Given the description of an element on the screen output the (x, y) to click on. 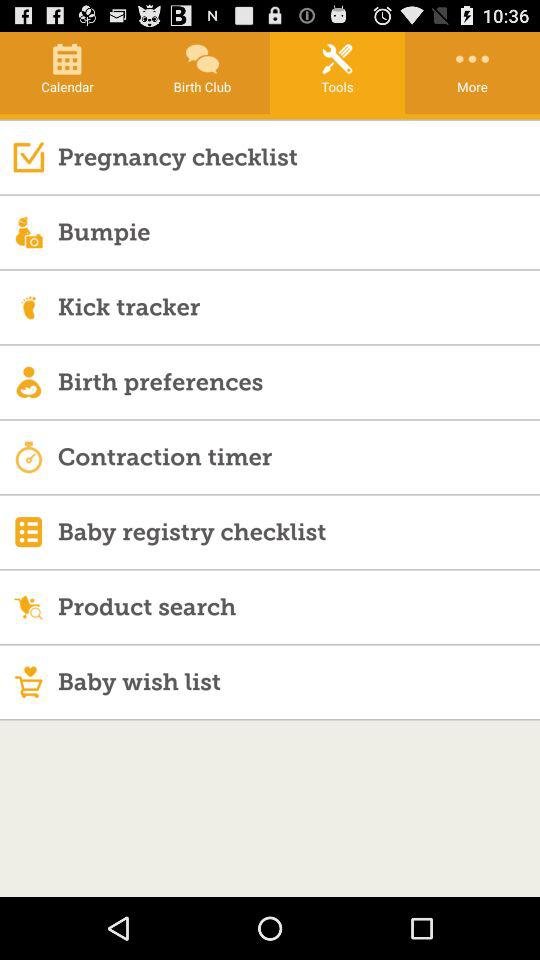
jump until the baby wish list (298, 681)
